Given the description of an element on the screen output the (x, y) to click on. 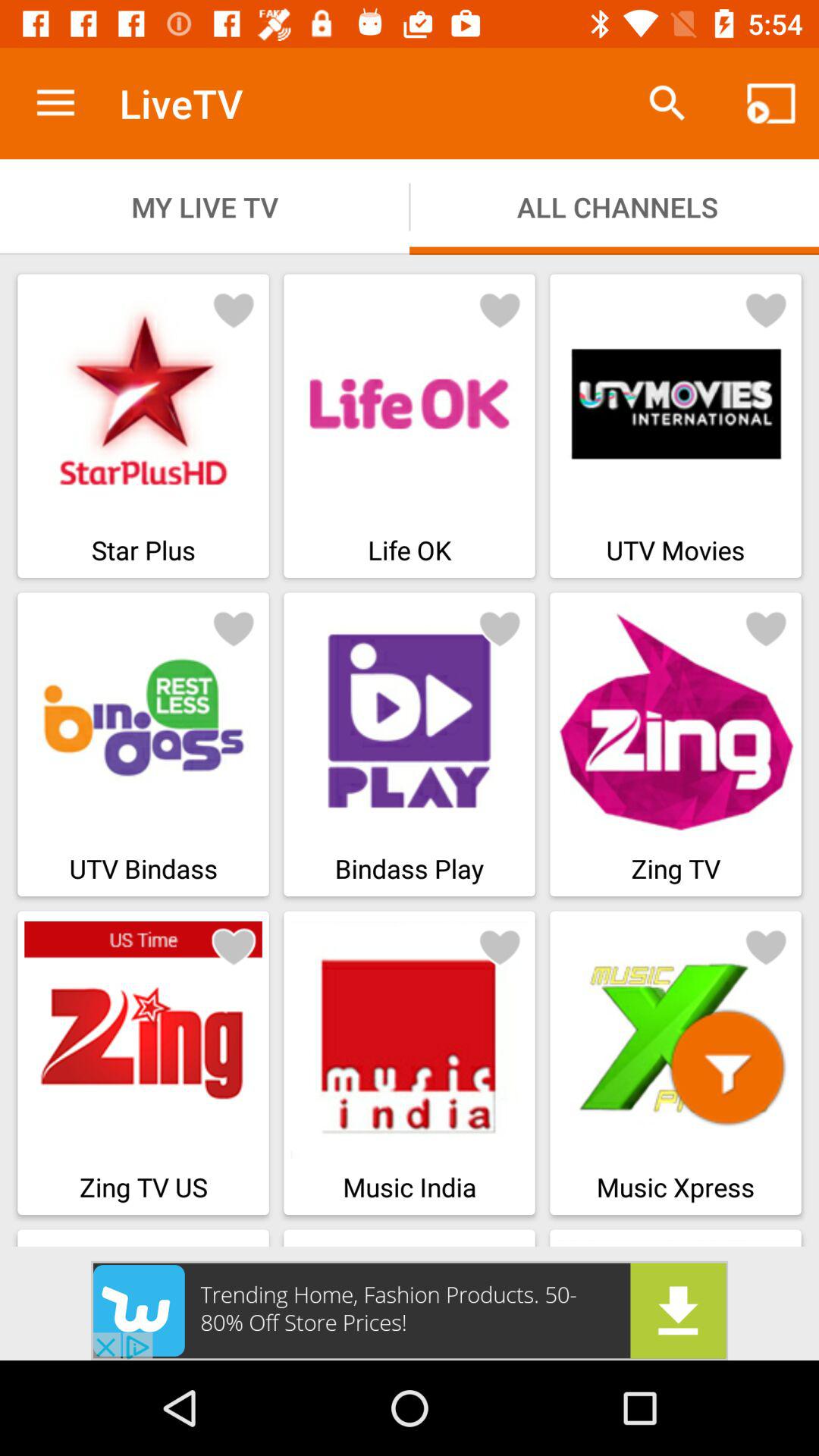
advertisement to favorites (233, 627)
